Given the description of an element on the screen output the (x, y) to click on. 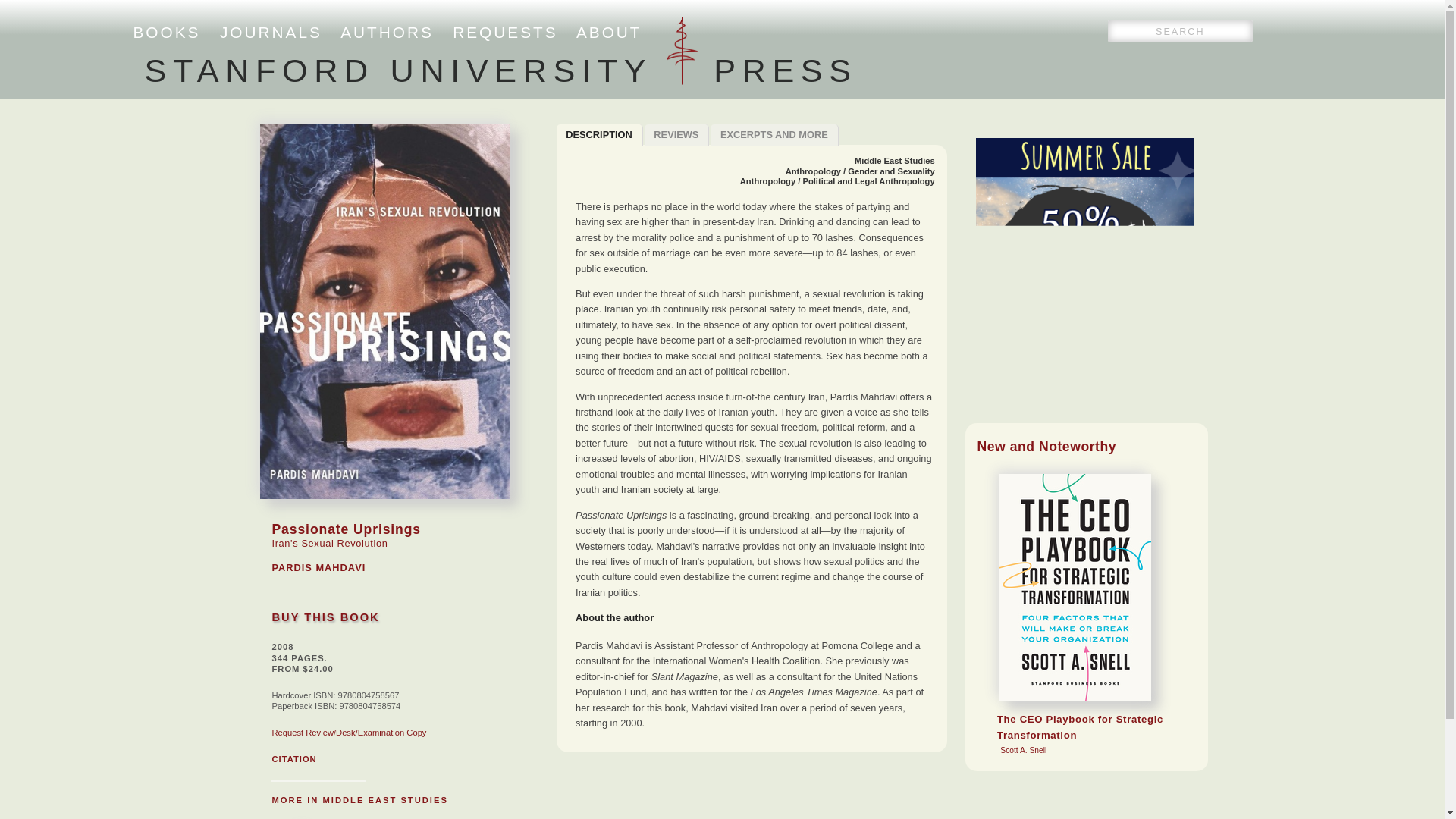
DESCRIPTION (599, 134)
AUTHORS (386, 31)
ABOUT (609, 31)
Middle East Studies (894, 160)
STANFORD UNIVERSITY PRESS (500, 70)
CITATION (292, 757)
REVIEWS (677, 134)
JOURNALS (270, 31)
BOOKS (166, 31)
REQUESTS (504, 31)
BUY THIS BOOK (324, 616)
MORE IN MIDDLE EAST STUDIES (774, 134)
